Given the description of an element on the screen output the (x, y) to click on. 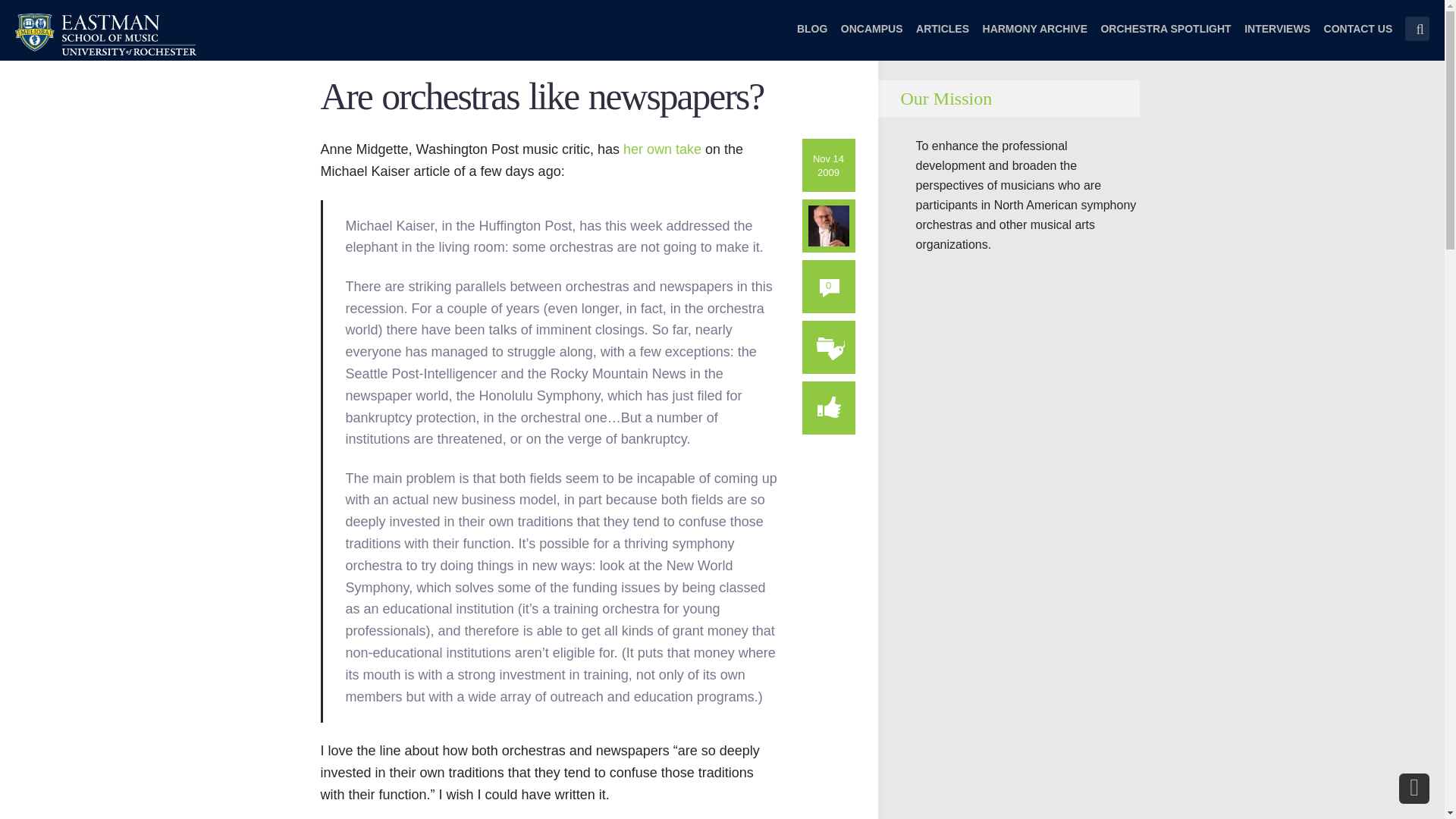
ORCHESTRA SPOTLIGHT (1165, 37)
ONCAMPUS (871, 37)
HARMONY ARCHIVE (1034, 37)
Type here to search... (1417, 28)
ARTICLES (942, 37)
Are orchestras like newspapers? (541, 96)
Are orchestras like newspapers? (541, 96)
CONTACT US (1358, 37)
Type here to search... (1417, 28)
INTERVIEWS (1277, 37)
